Given the description of an element on the screen output the (x, y) to click on. 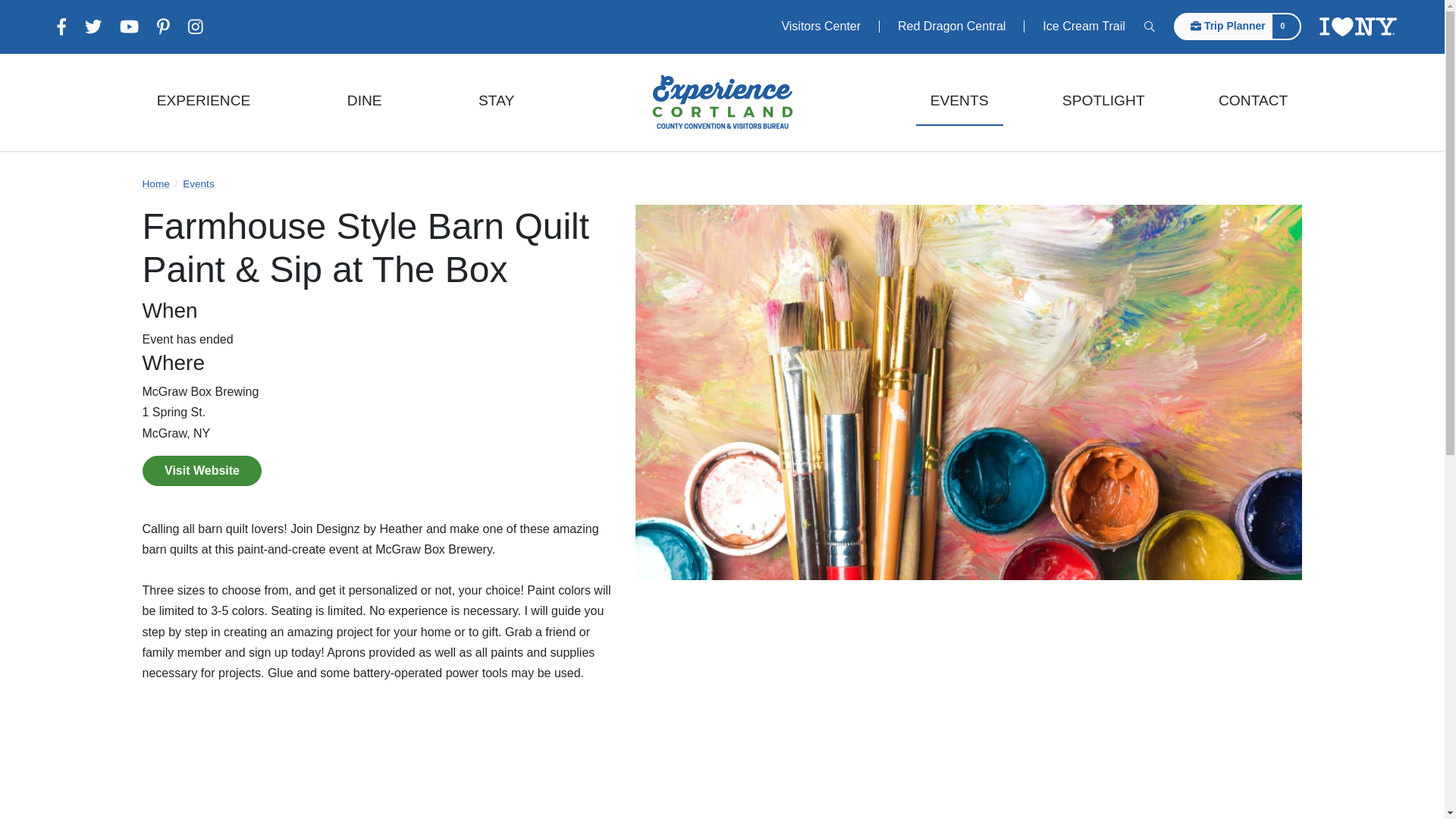
Red Dragon Central (952, 26)
Visitors Center (820, 26)
SPOTLIGHT (1103, 101)
Instagram (195, 26)
DINE (364, 101)
Events (198, 183)
Facebook (61, 26)
YouTube (129, 26)
Ice Cream Trail (1083, 26)
Visit Website (202, 470)
CONTACT (1253, 101)
EVENTS (959, 101)
Trip Planner 0 (1237, 26)
Pinterest (163, 26)
EXPERIENCE (203, 101)
